Given the description of an element on the screen output the (x, y) to click on. 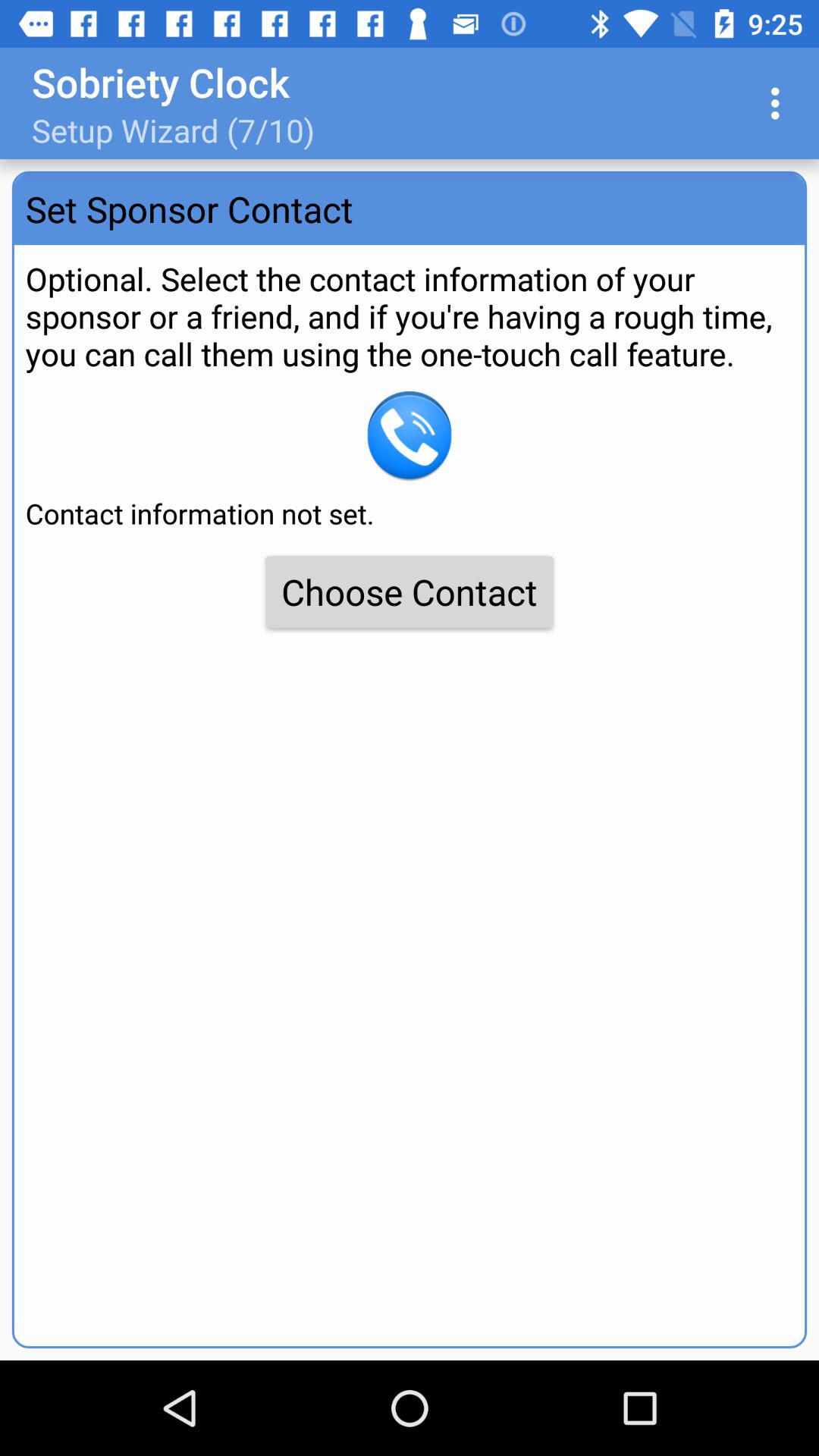
choose the item to the right of the setup wizard 7 app (779, 103)
